Given the description of an element on the screen output the (x, y) to click on. 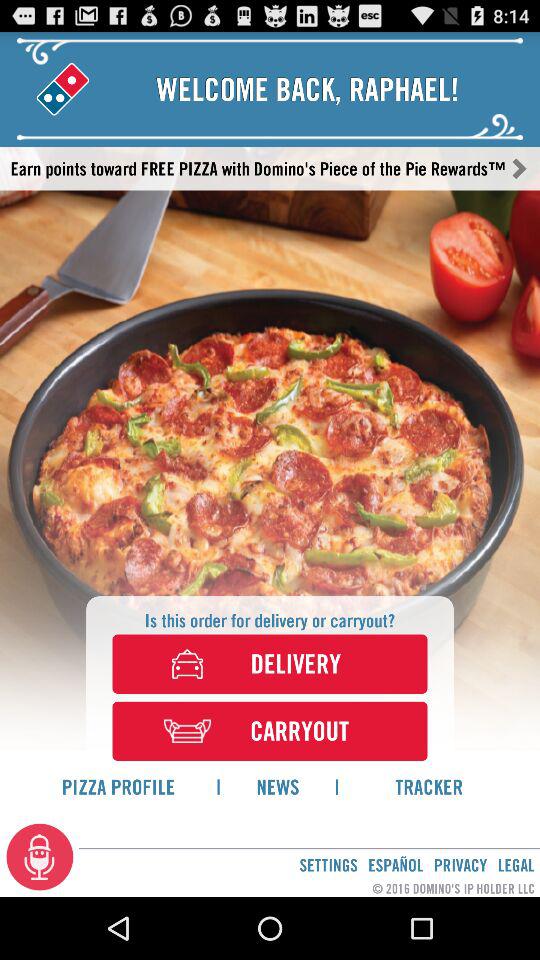
tap the privacy icon (460, 864)
